Given the description of an element on the screen output the (x, y) to click on. 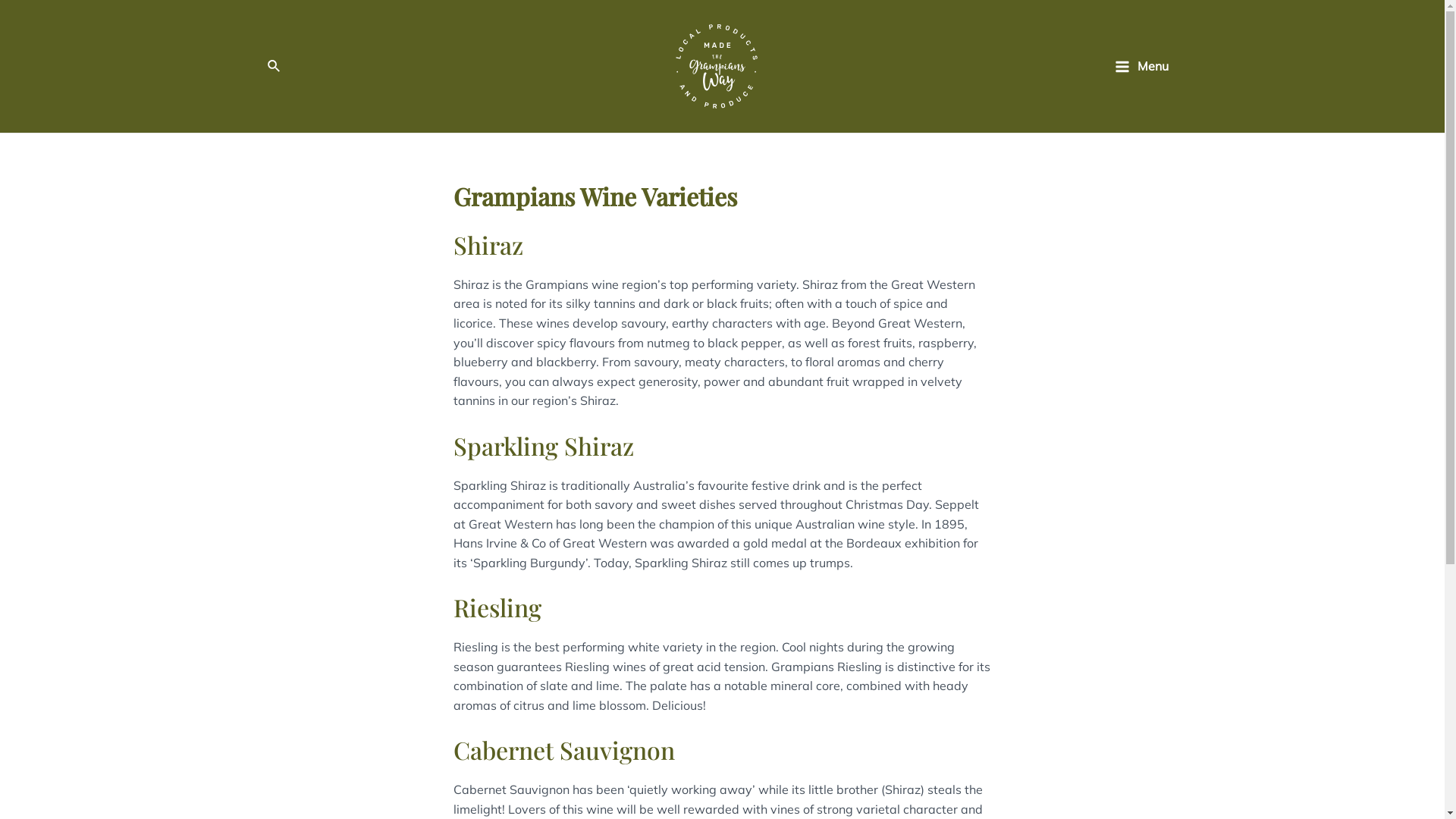
Main Menu
Menu Element type: text (1141, 65)
Search Element type: text (273, 66)
